Given the description of an element on the screen output the (x, y) to click on. 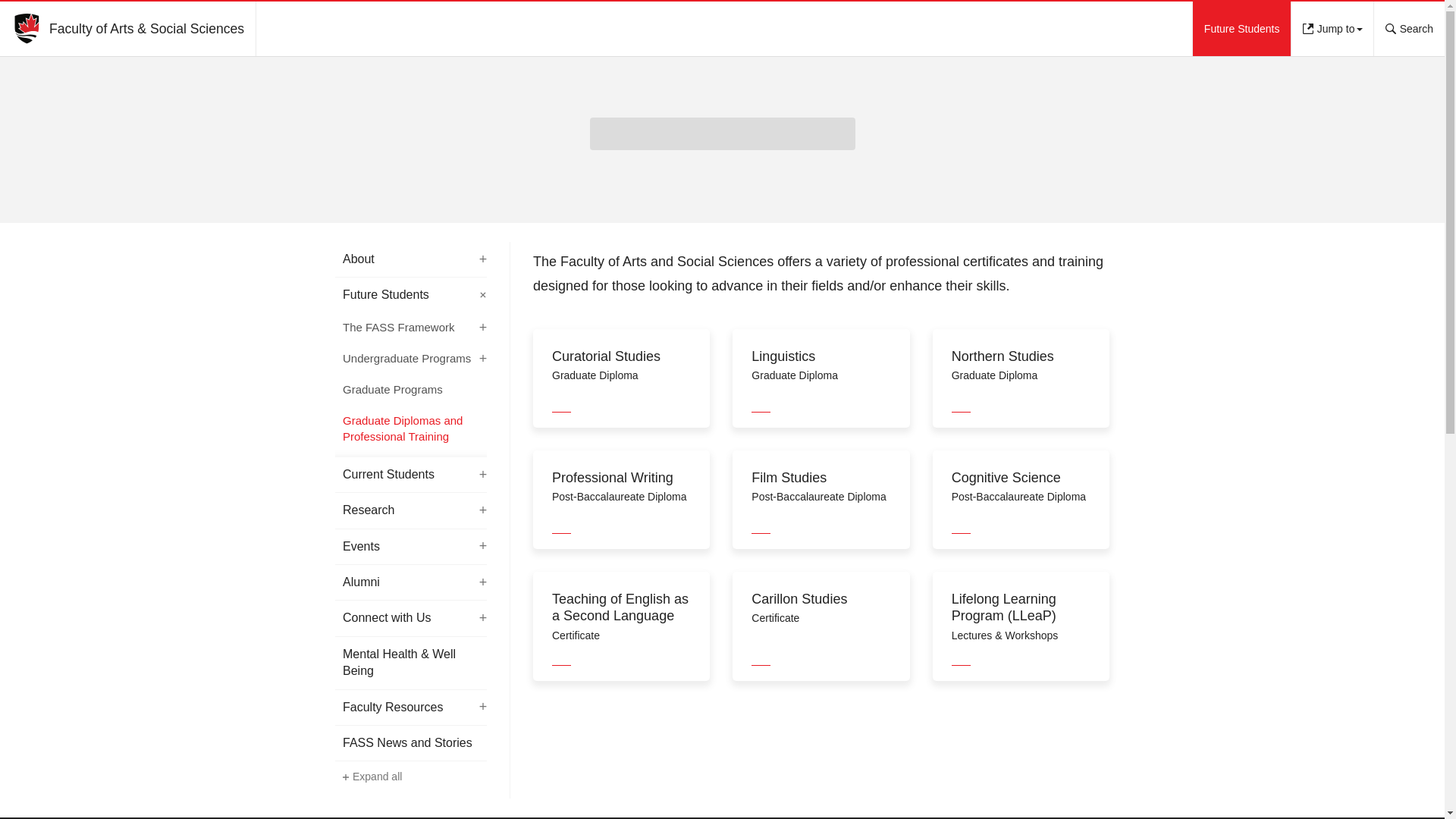
Current Students (410, 474)
Graduate Programs (410, 390)
Graduate Diplomas and Professional Training (410, 429)
Future Students (410, 294)
Research (410, 510)
About (410, 258)
Future Students (1241, 28)
Undergraduate Programs (410, 359)
The FASS Framework (410, 327)
